Given the description of an element on the screen output the (x, y) to click on. 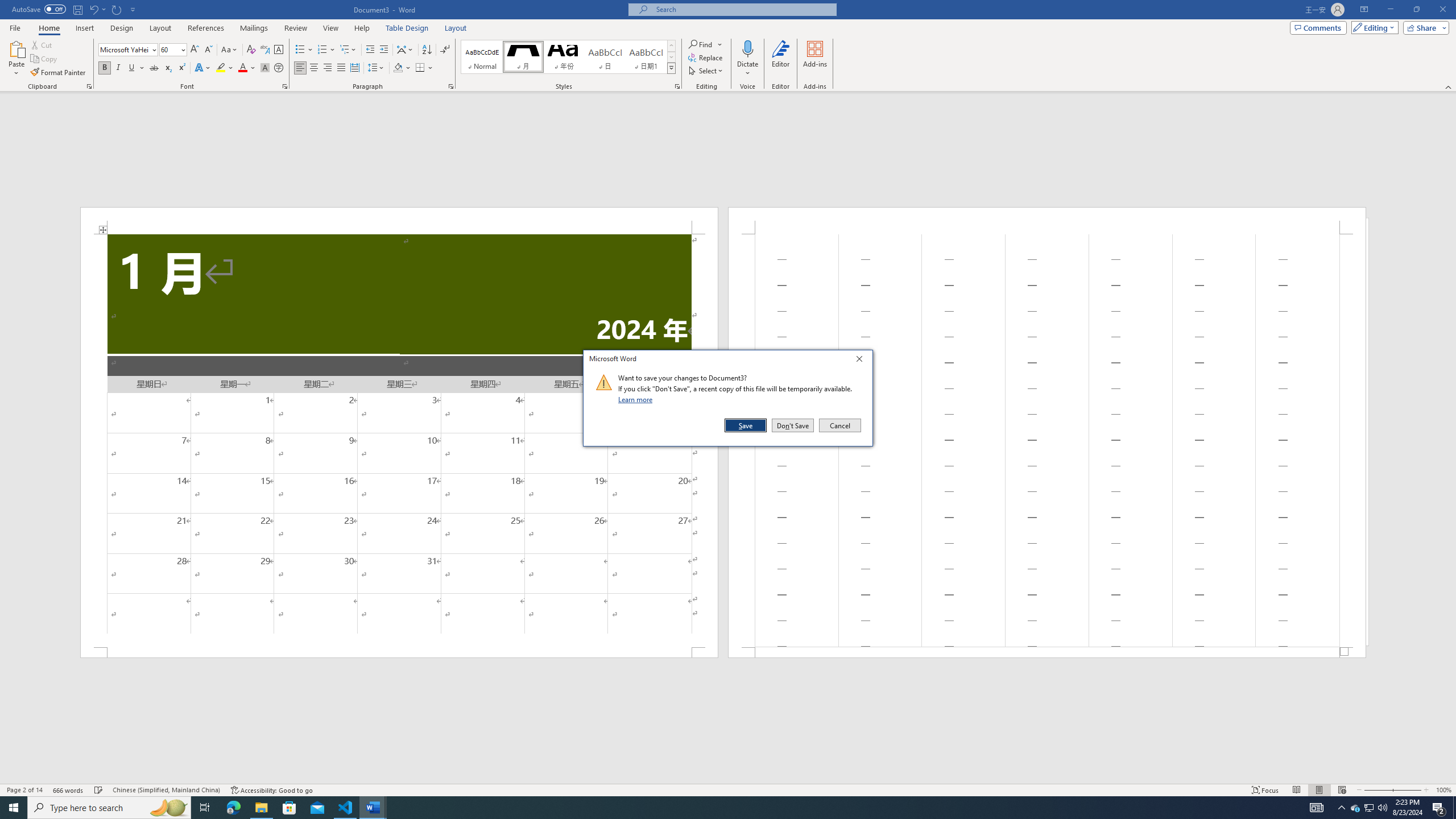
Underline (136, 67)
Don't Save (792, 425)
Web Layout (1342, 790)
Center (313, 67)
Grow Font (193, 49)
Accessibility Checker Accessibility: Good to go (271, 790)
Close (862, 360)
Increase Indent (383, 49)
Paragraph... (450, 85)
Line and Paragraph Spacing (376, 67)
Styles (670, 67)
Class: MsoCommandBar (1368, 807)
Numbering (728, 789)
Restore Down (326, 49)
